Given the description of an element on the screen output the (x, y) to click on. 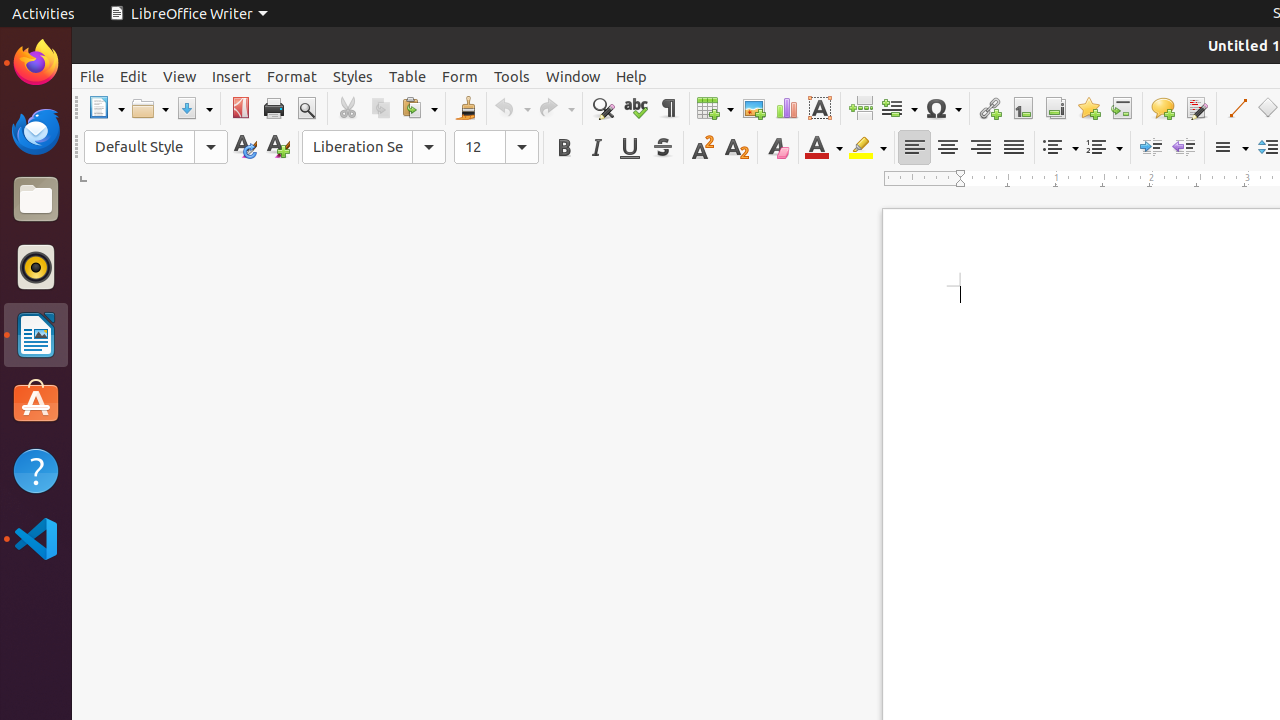
Clear Element type: push-button (777, 147)
Endnote Element type: push-button (1055, 108)
Underline Element type: push-button (629, 147)
Comment Element type: push-button (1162, 108)
